Given the description of an element on the screen output the (x, y) to click on. 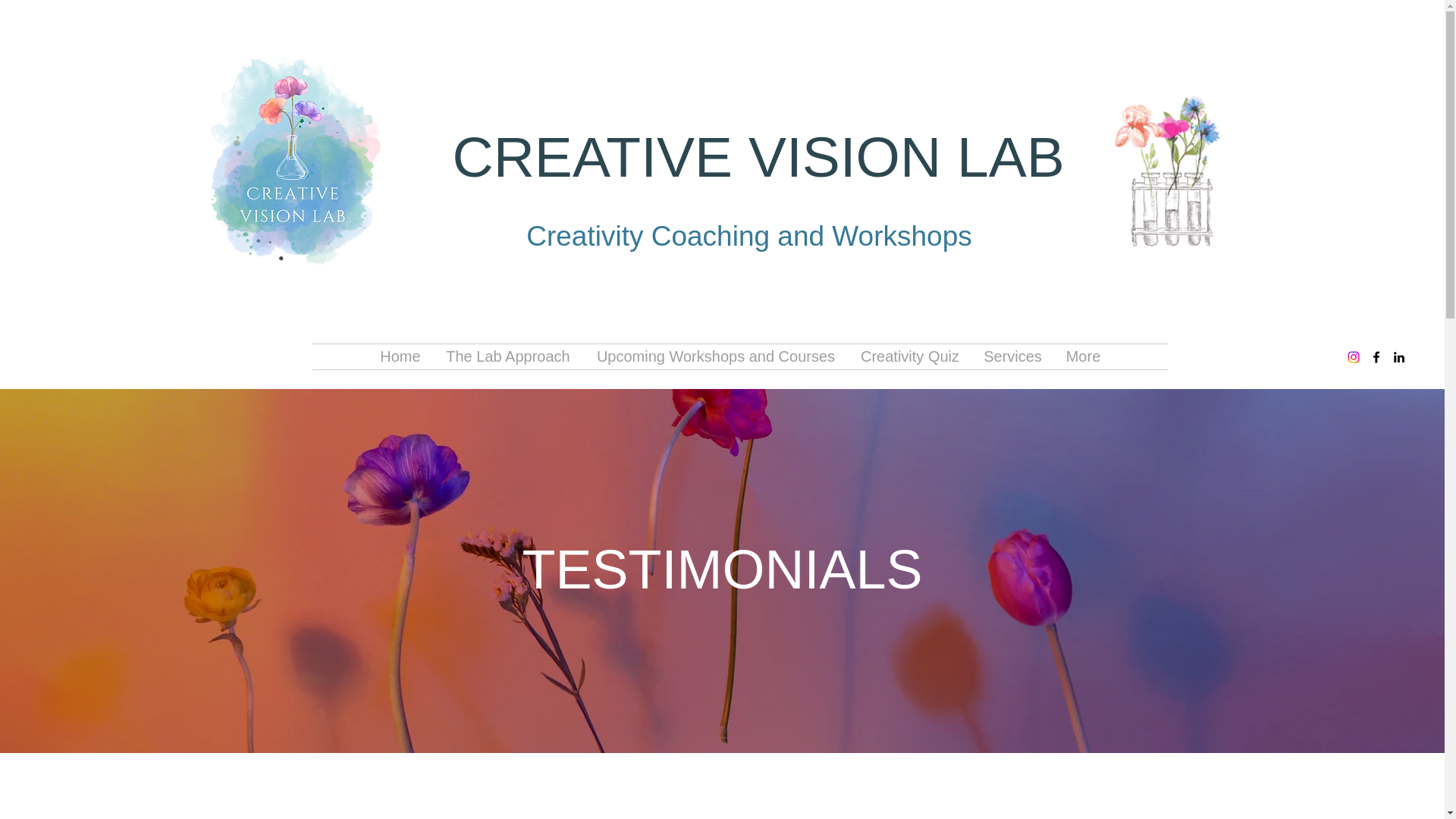
CREATIVE VISION LAB (758, 157)
Services (1011, 356)
Home (400, 356)
Creativity Quiz (909, 356)
The Lab Approach (507, 356)
Upcoming Workshops and Courses (715, 356)
